Given the description of an element on the screen output the (x, y) to click on. 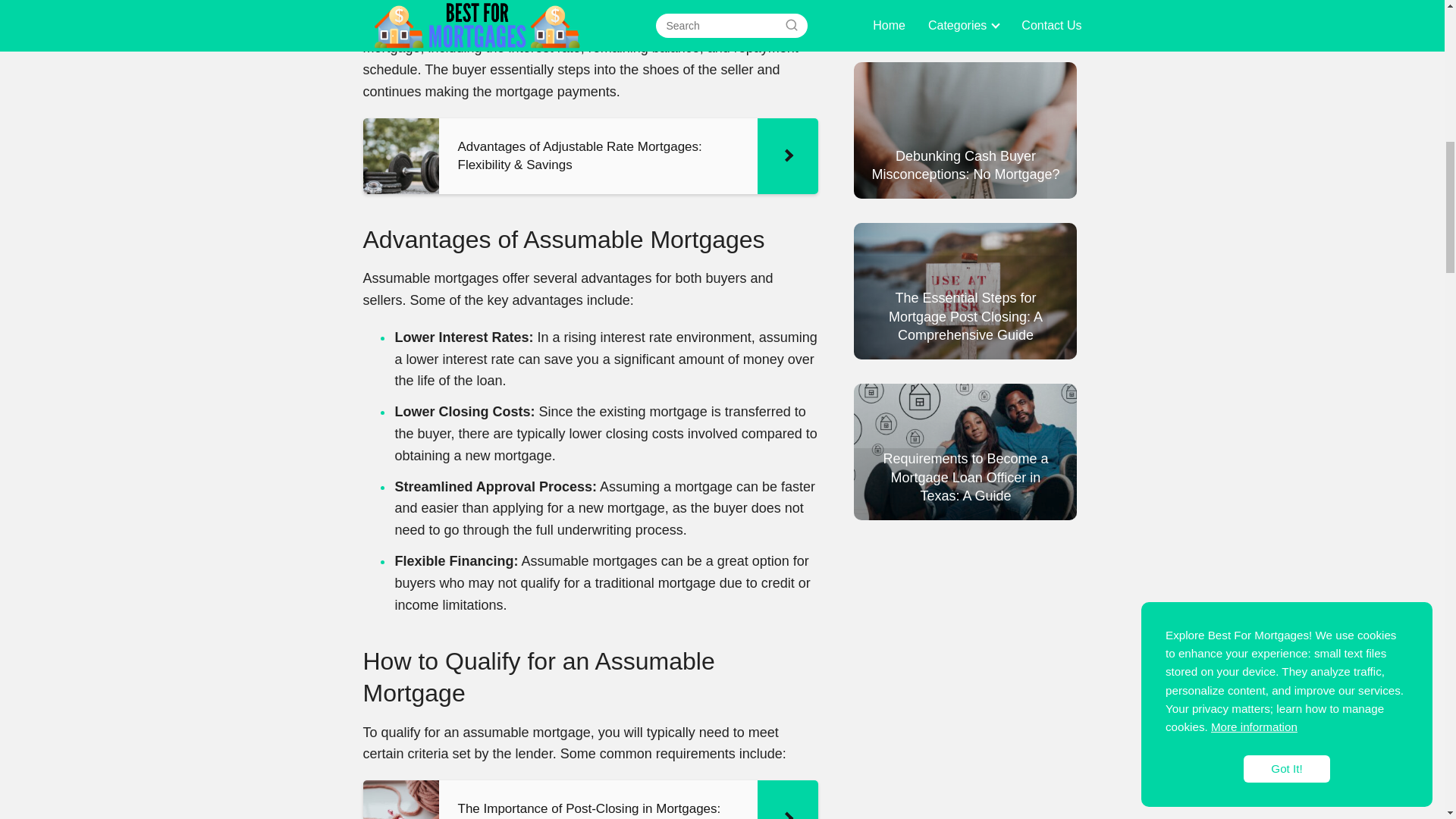
The Importance of Post-Closing in Mortgages: Explained (590, 799)
